Given the description of an element on the screen output the (x, y) to click on. 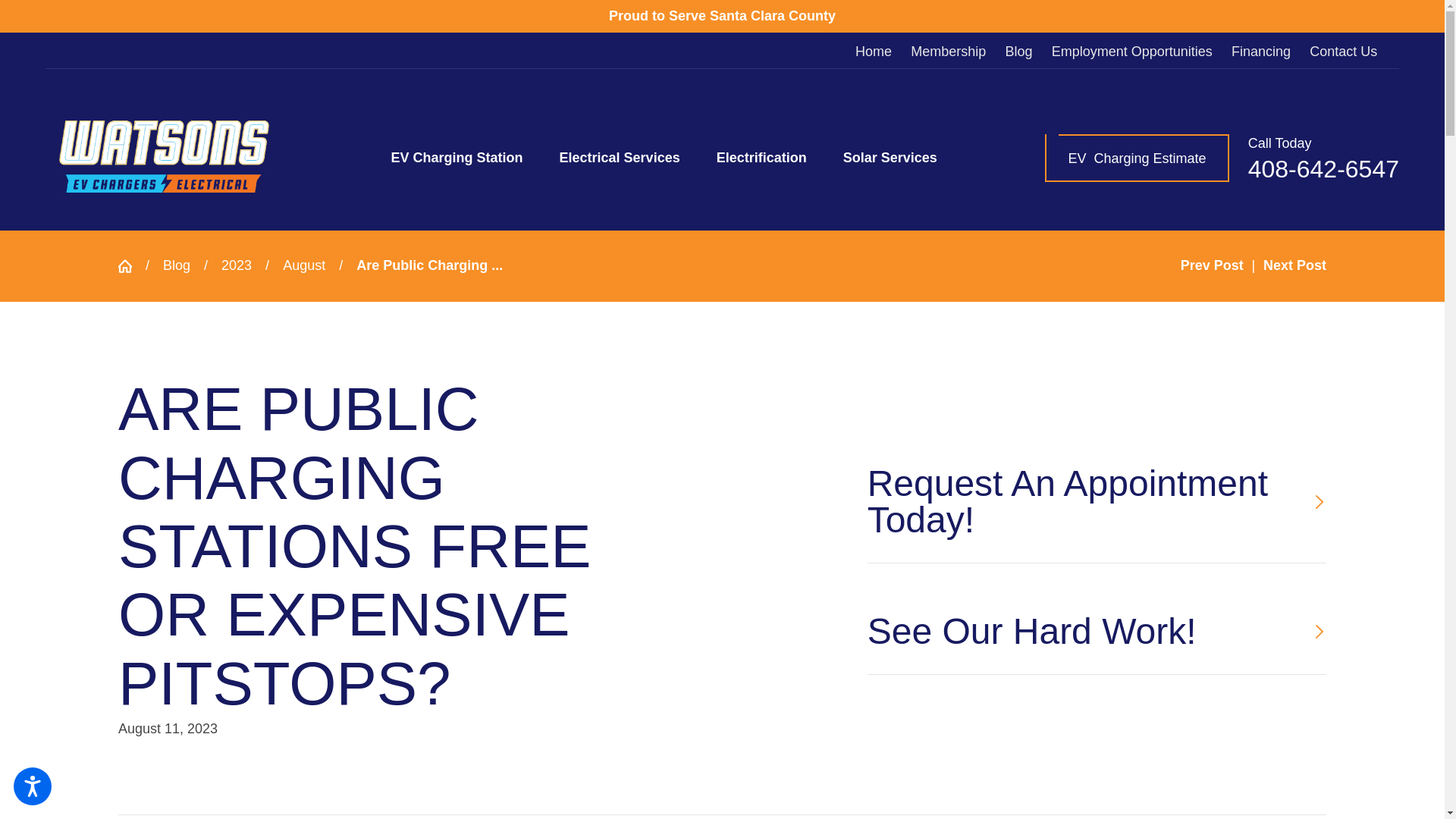
2023 (236, 265)
Electrification (761, 158)
Membership (948, 51)
Next Post (1294, 264)
Prev Post (1211, 264)
Contact Us (1342, 51)
August (303, 265)
Open the accessibility options menu (31, 786)
Home (873, 51)
EV  Charging Estimate (1136, 157)
Go Home (131, 265)
Employment Opportunities (1131, 51)
Blog (176, 265)
408-642-6547 (1323, 168)
Blog (1018, 51)
